Given the description of an element on the screen output the (x, y) to click on. 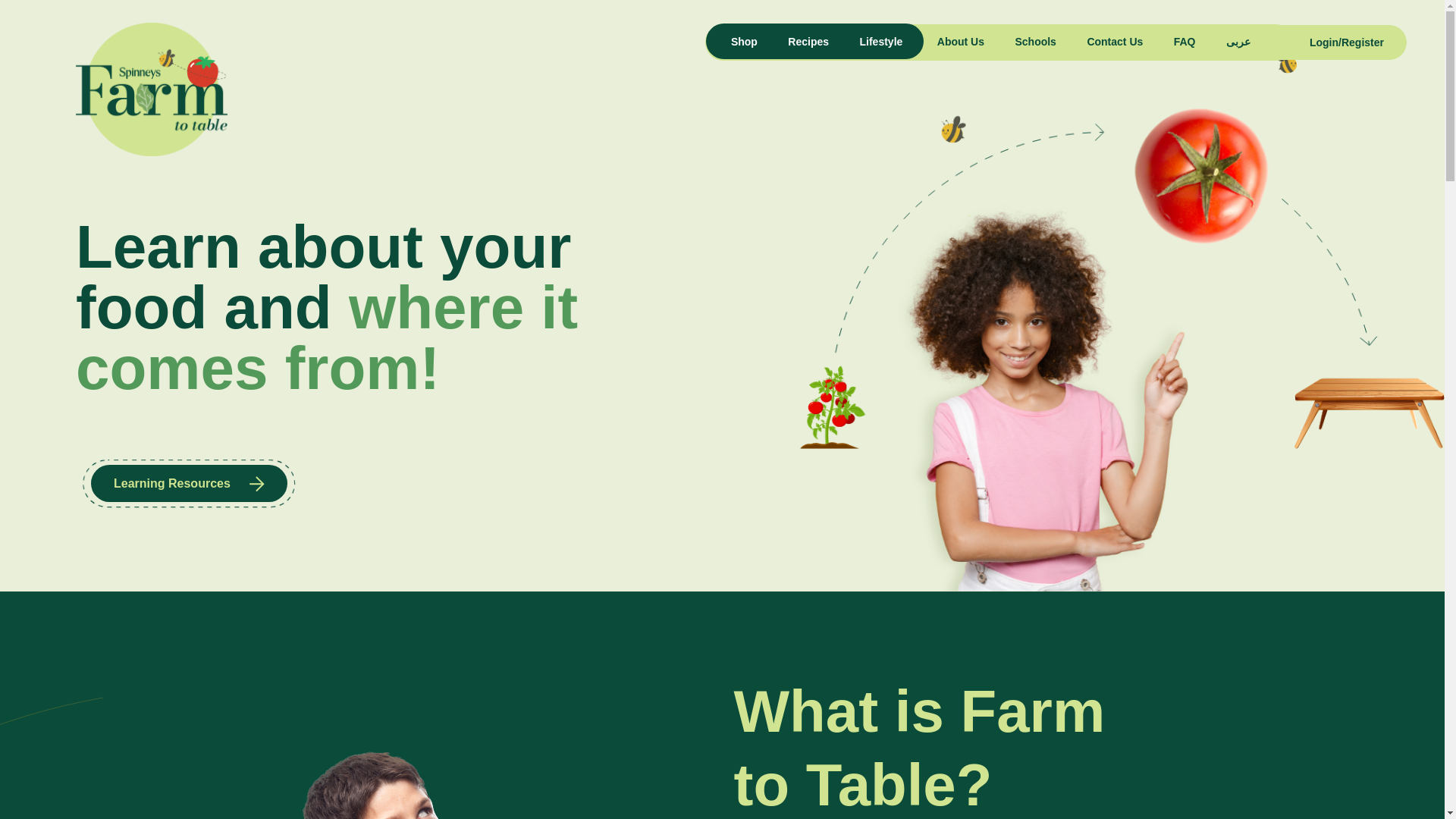
Schools (1034, 41)
FAQ (1184, 41)
Contact Us (1114, 41)
About Us (960, 41)
Lifestyle (881, 41)
Shop (744, 41)
Recipes (808, 41)
Learning Resources (188, 483)
